Given the description of an element on the screen output the (x, y) to click on. 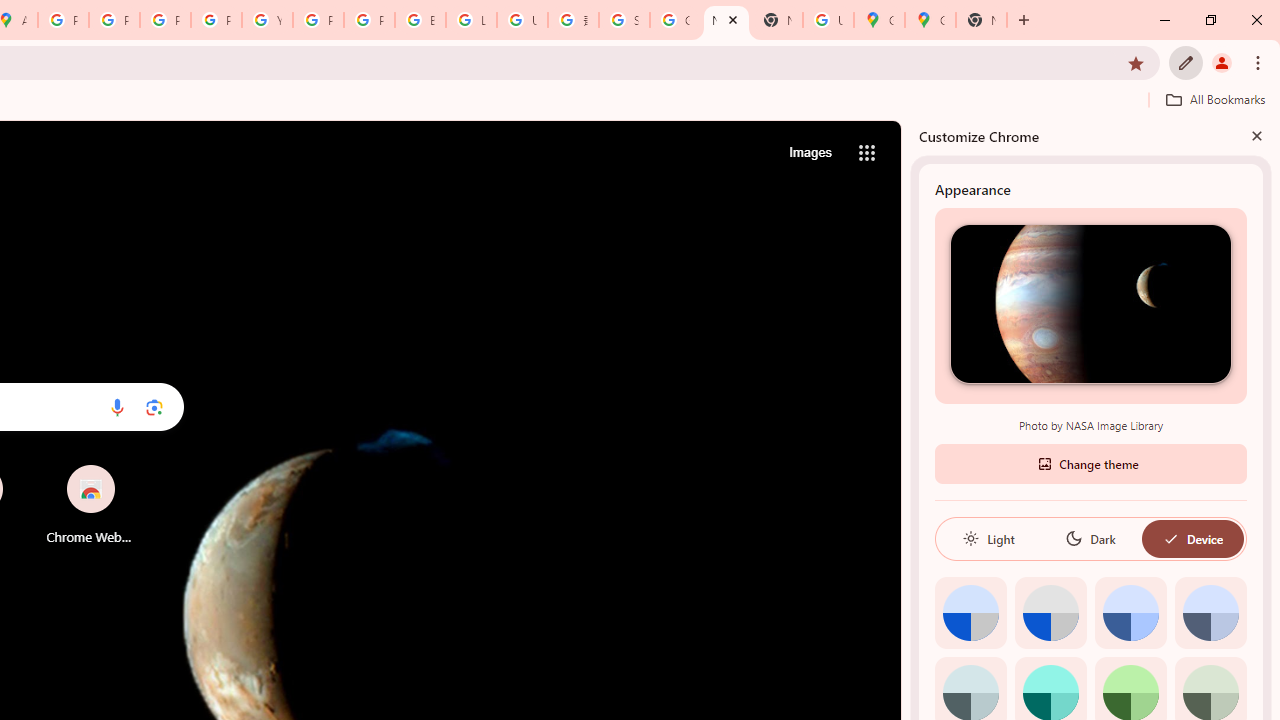
Use Google Maps in Space - Google Maps Help (827, 20)
Photo by NASA Image Library (1090, 303)
YouTube (267, 20)
AutomationID: baseSvg (1170, 538)
Policy Accountability and Transparency - Transparency Center (63, 20)
Dark (1090, 538)
New Tab (981, 20)
Chrome Web Store (90, 504)
